Given the description of an element on the screen output the (x, y) to click on. 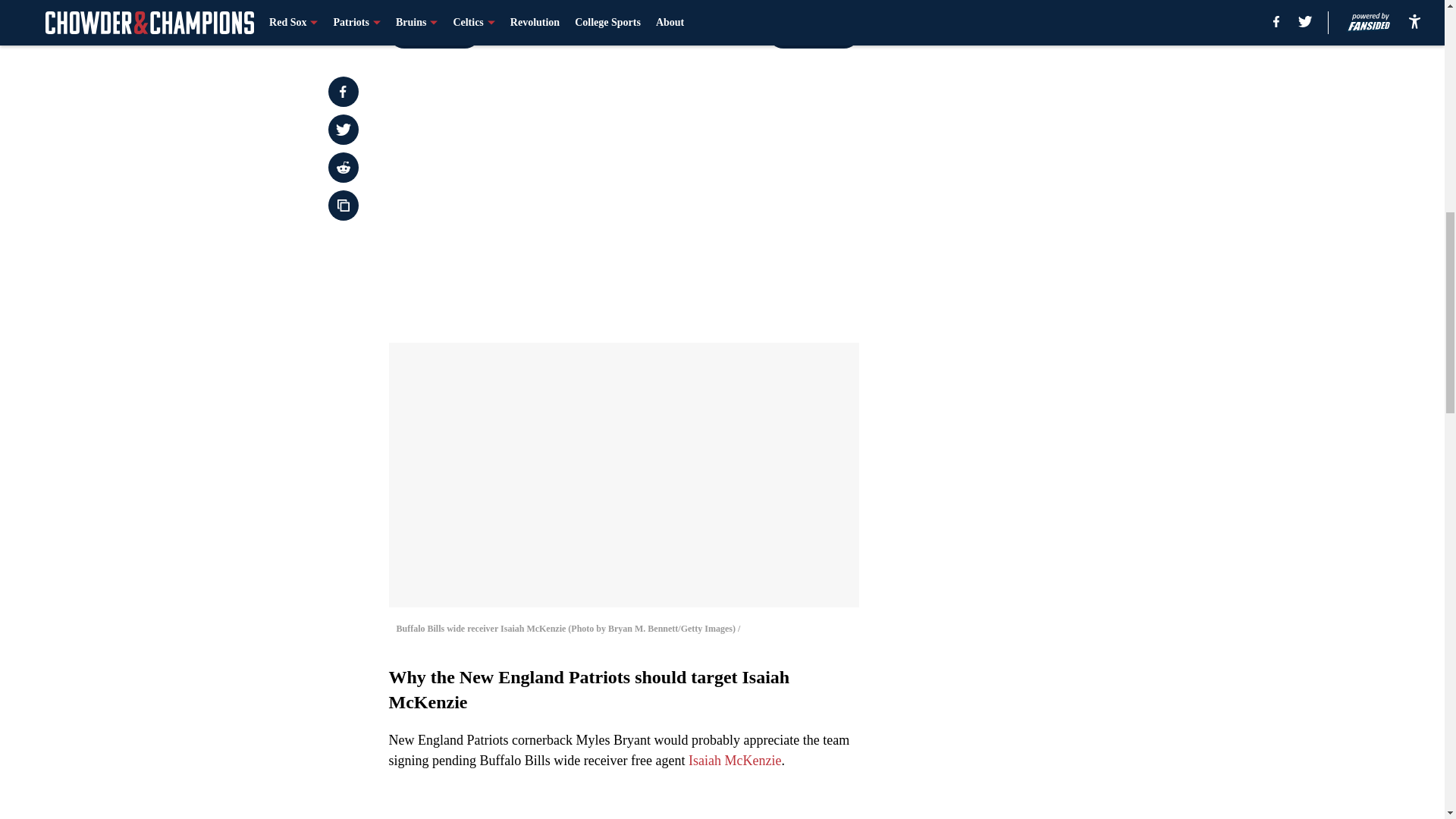
Next (813, 33)
Isaiah McKenzie (733, 760)
Prev (433, 33)
